Given the description of an element on the screen output the (x, y) to click on. 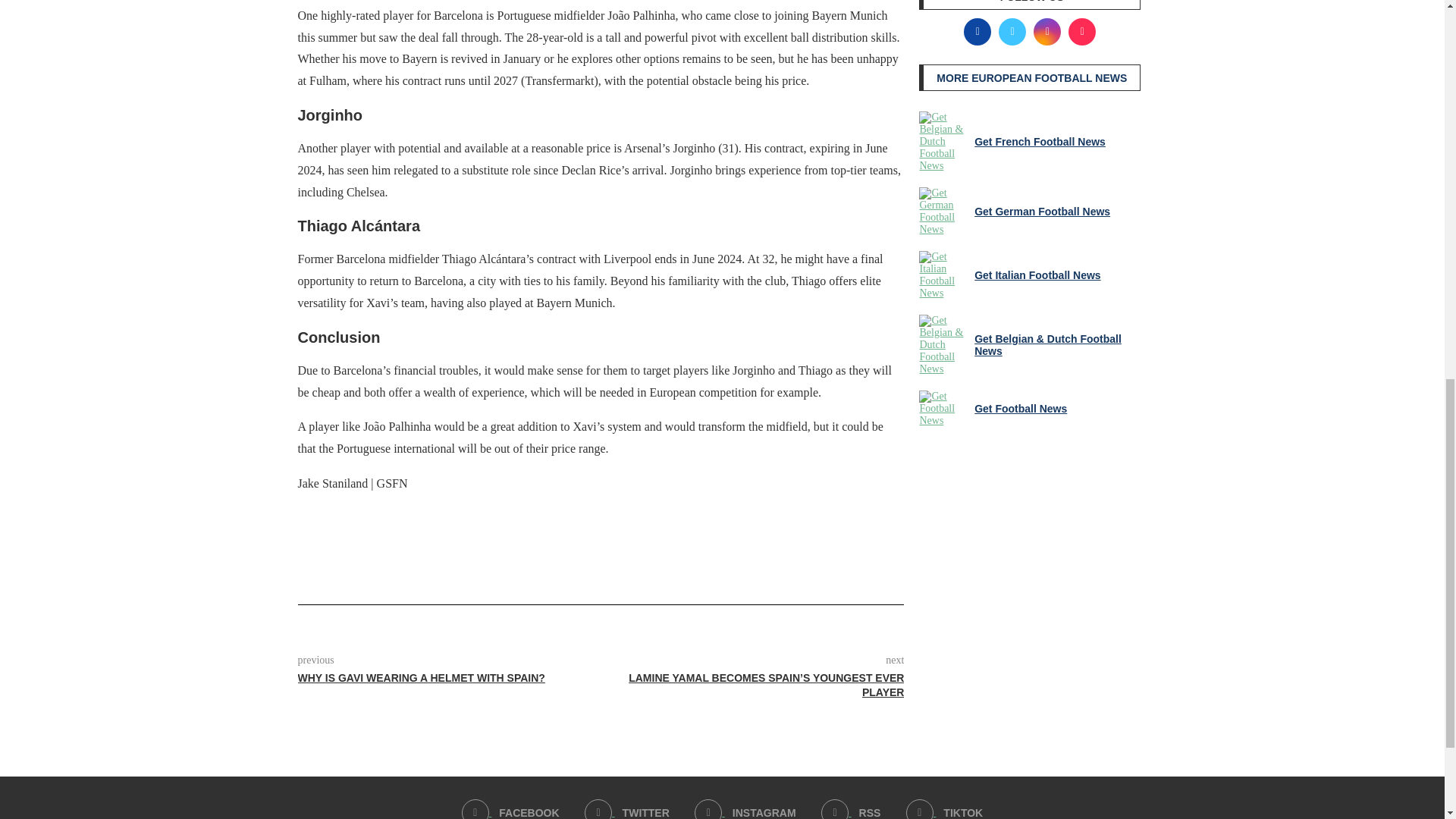
Get Italian Football News (943, 274)
Get Football News (943, 408)
Get German Football News (943, 211)
